Given the description of an element on the screen output the (x, y) to click on. 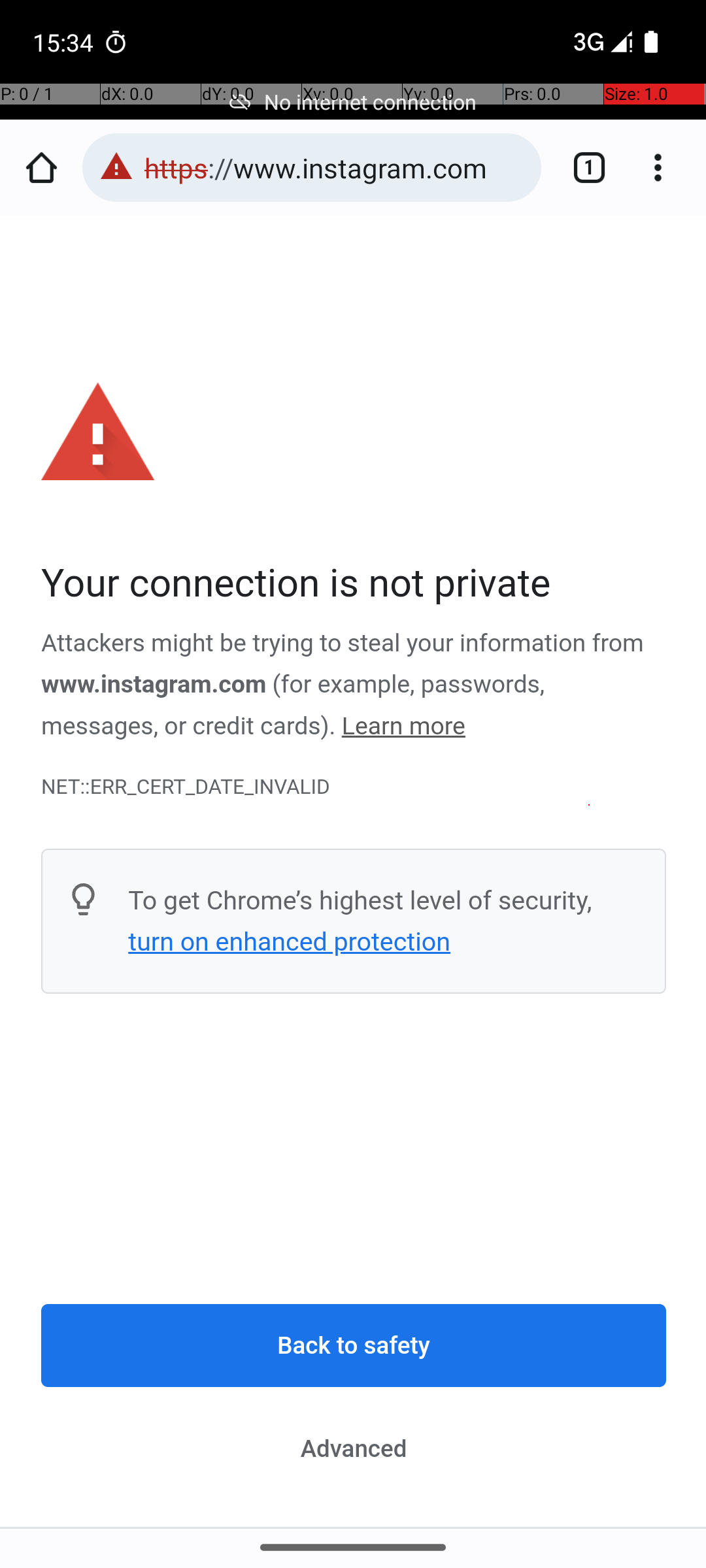
https://www.instagram.com Element type: android.widget.EditText (335, 167)
www.instagram.com Element type: android.widget.TextView (154, 684)
